Given the description of an element on the screen output the (x, y) to click on. 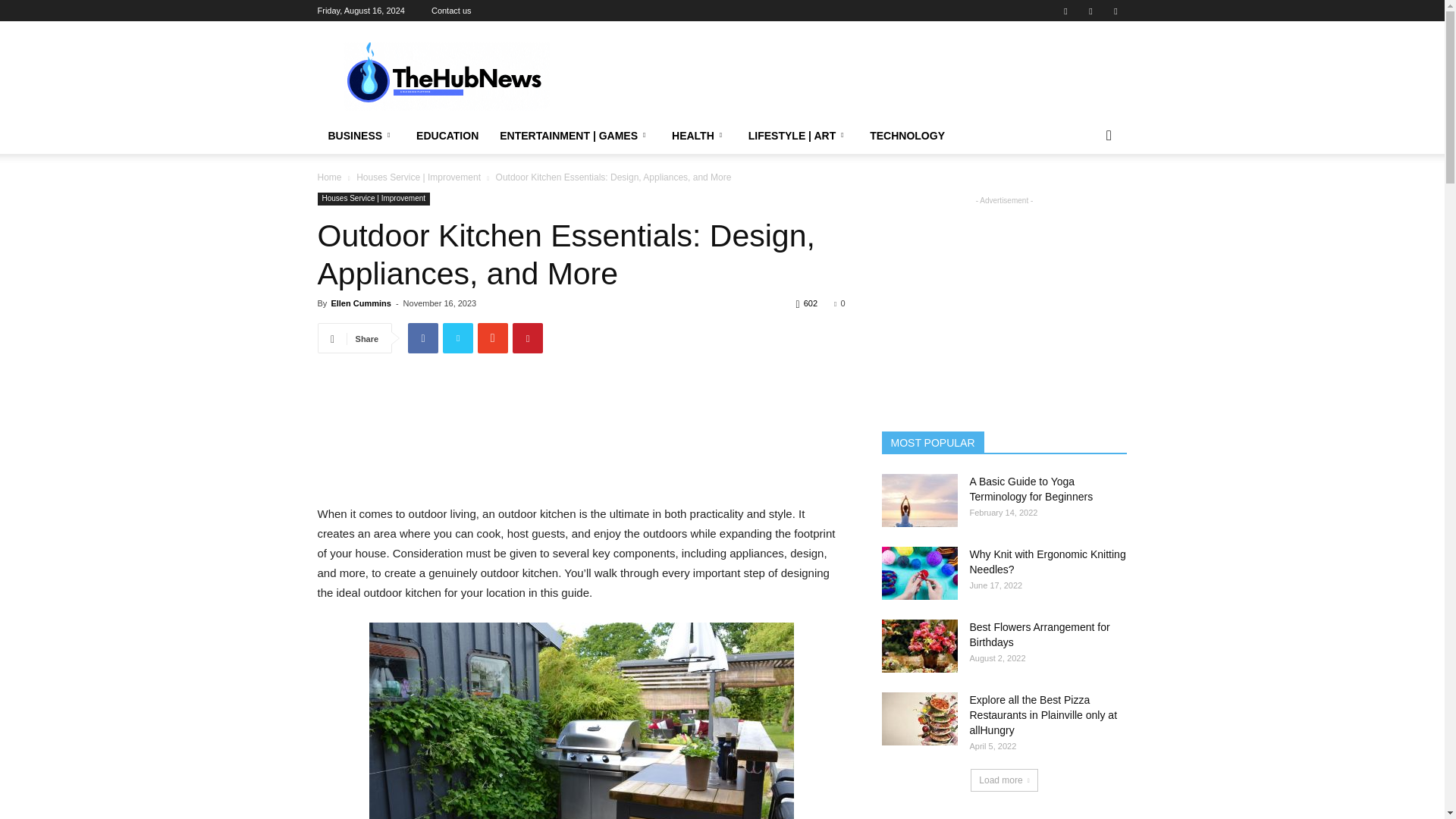
Advertisement (580, 465)
Pinterest (1090, 10)
Advertisement (850, 76)
Twitter (1114, 10)
Advertisement (580, 403)
Facebook (1065, 10)
Contact us (450, 10)
